Given the description of an element on the screen output the (x, y) to click on. 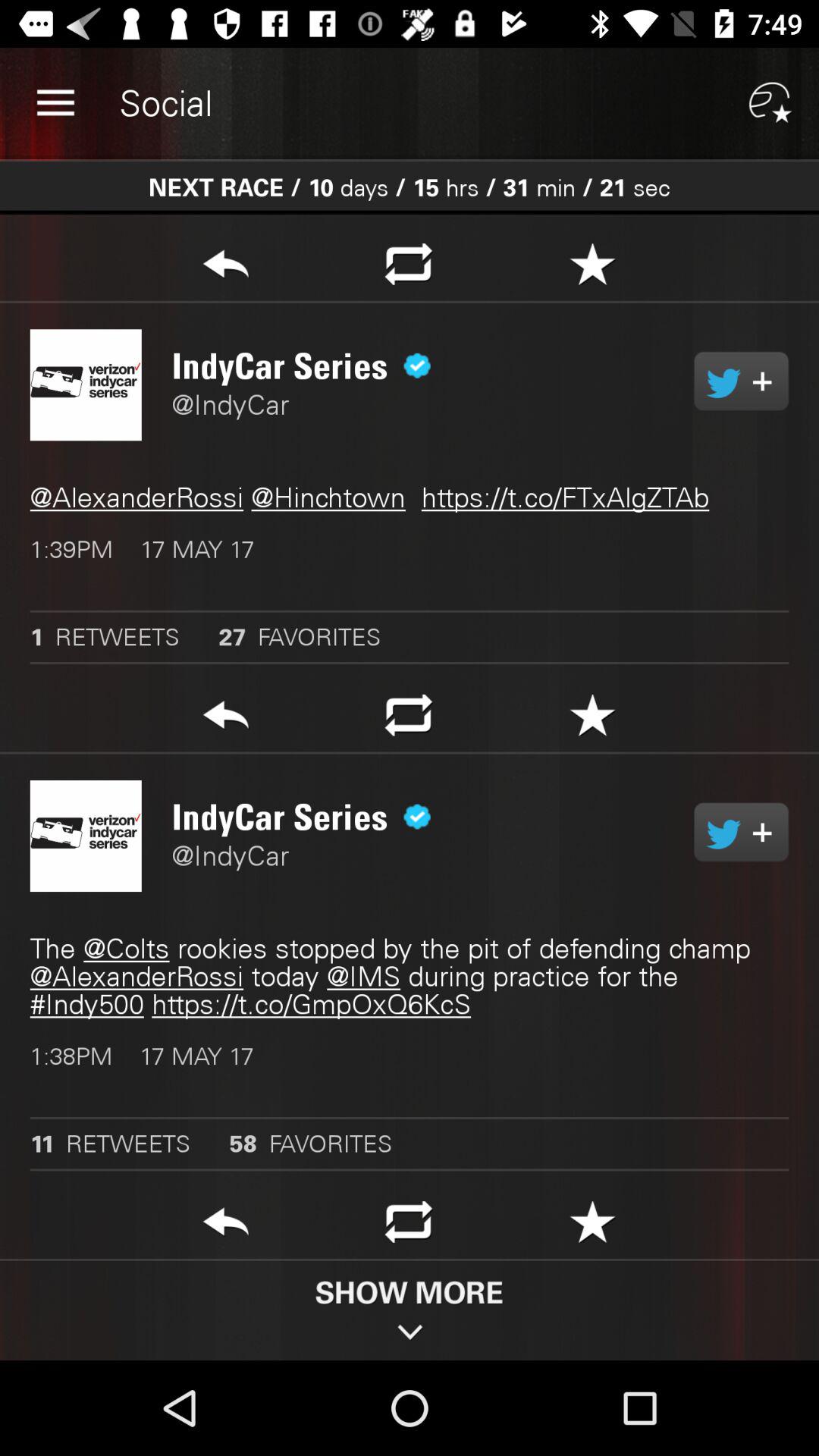
click item above the 1 38pm 17 item (409, 976)
